Given the description of an element on the screen output the (x, y) to click on. 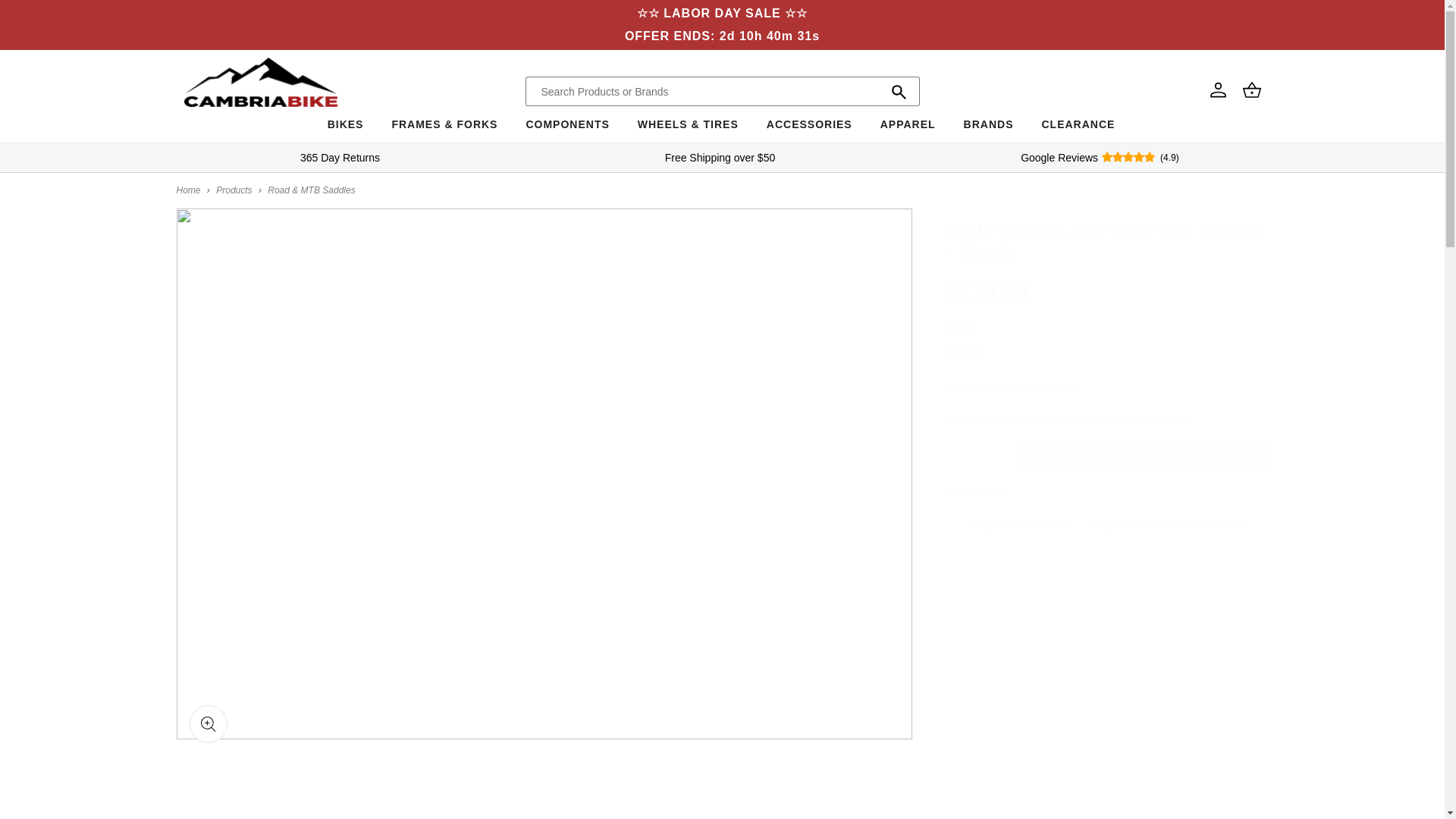
Cambria Bike (188, 190)
Products (233, 190)
Skip to content (45, 17)
